Given the description of an element on the screen output the (x, y) to click on. 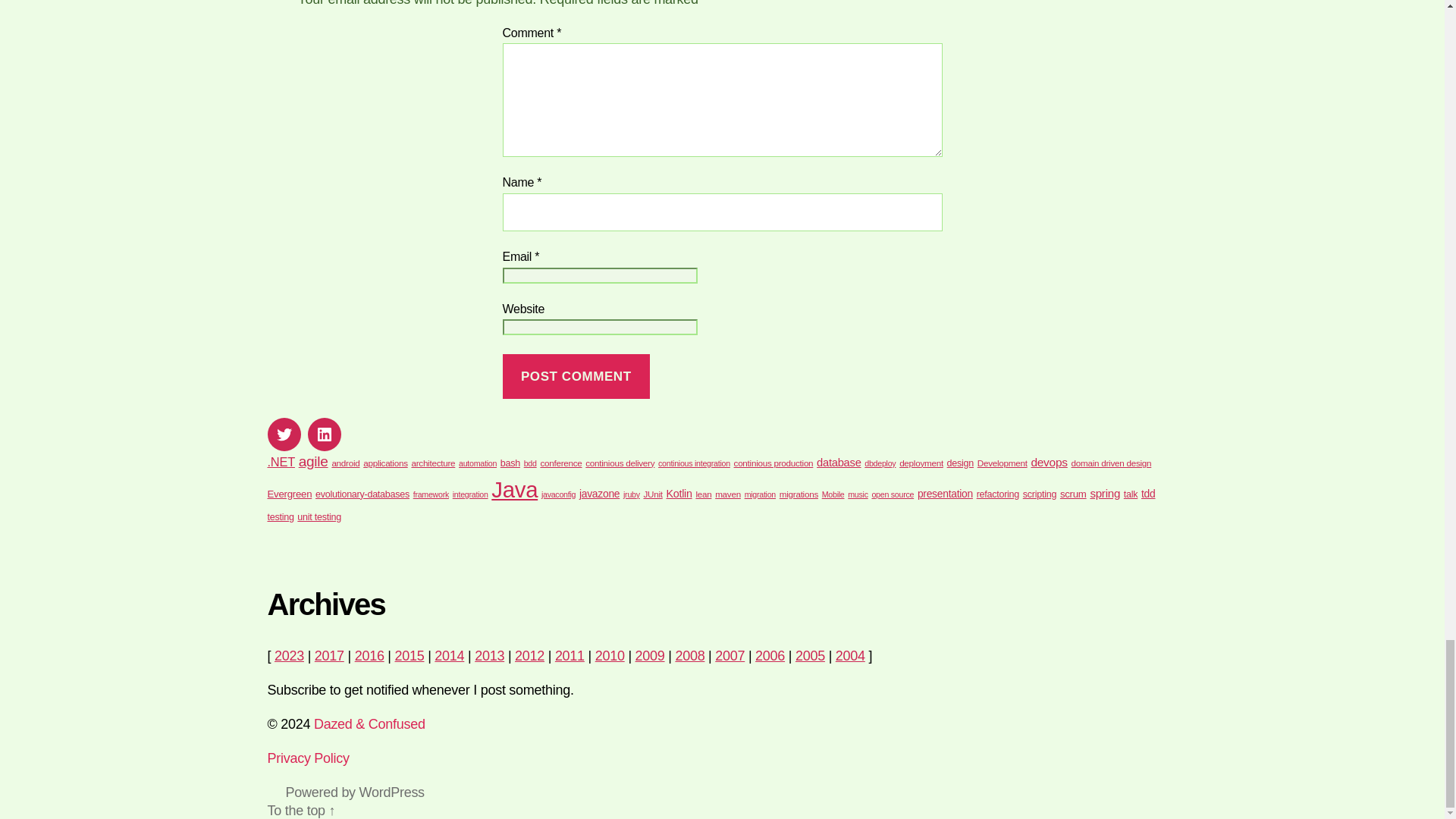
applications (384, 462)
Post Comment (575, 375)
.NET (280, 461)
agile (313, 461)
Post Comment (575, 375)
android (345, 462)
